Given the description of an element on the screen output the (x, y) to click on. 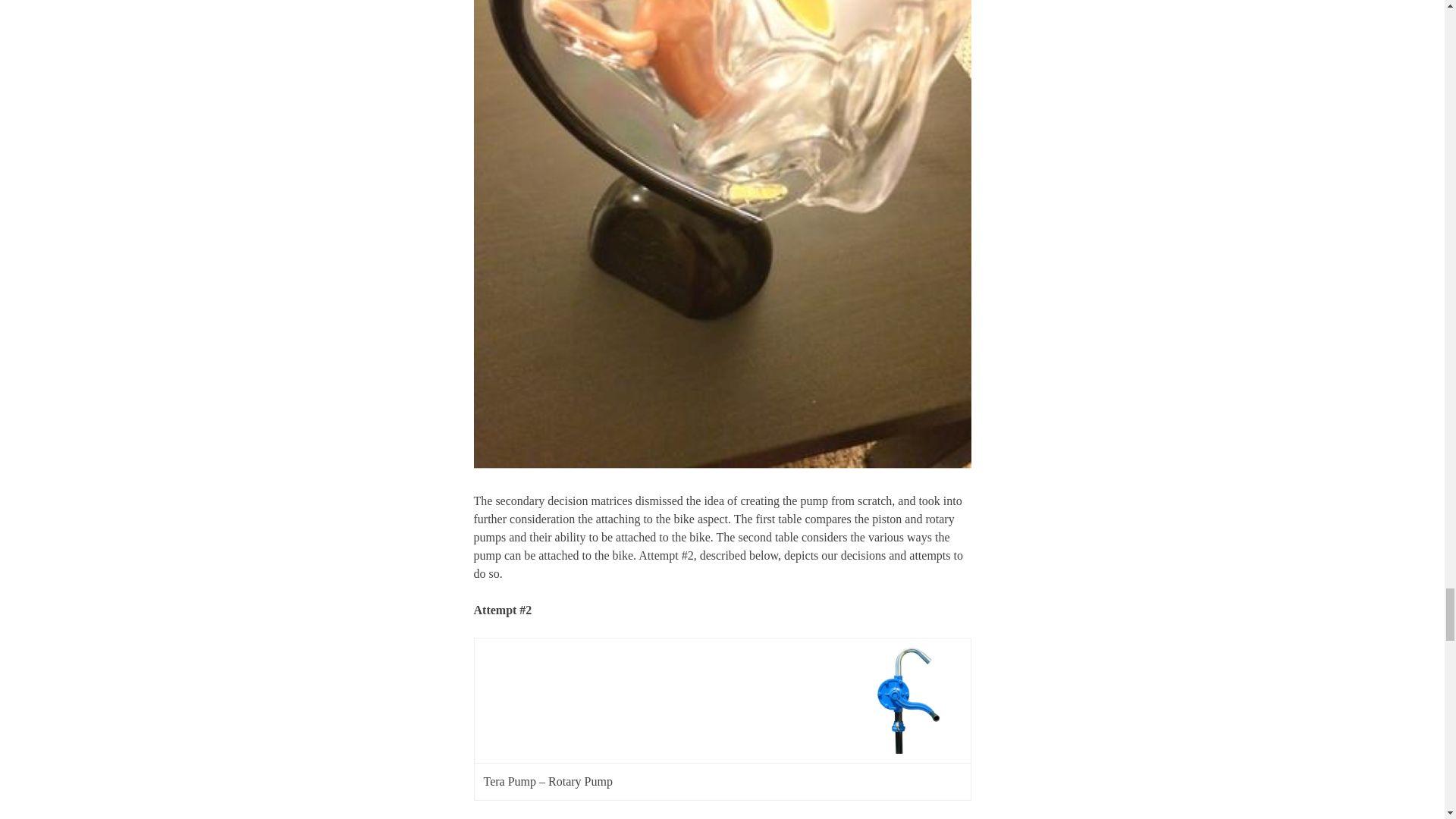
TRRA10-2T.jpg (908, 700)
